Given the description of an element on the screen output the (x, y) to click on. 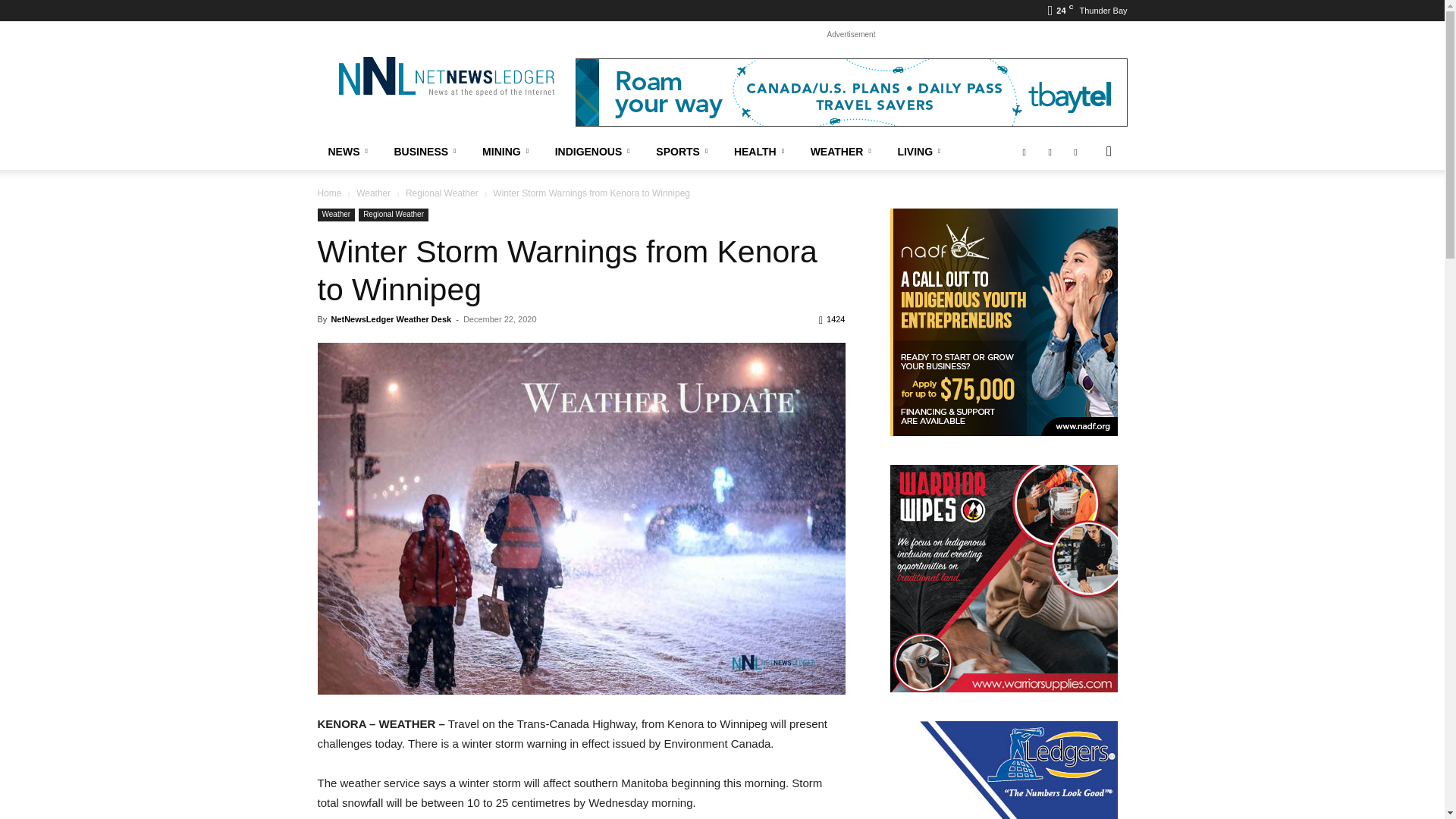
Facebook (1024, 151)
NetNewsLedger (445, 76)
View all posts in Regional Weather (442, 193)
tbaytel (850, 92)
Twitter (1050, 151)
View all posts in Weather (373, 193)
Youtube (1075, 151)
